Given the description of an element on the screen output the (x, y) to click on. 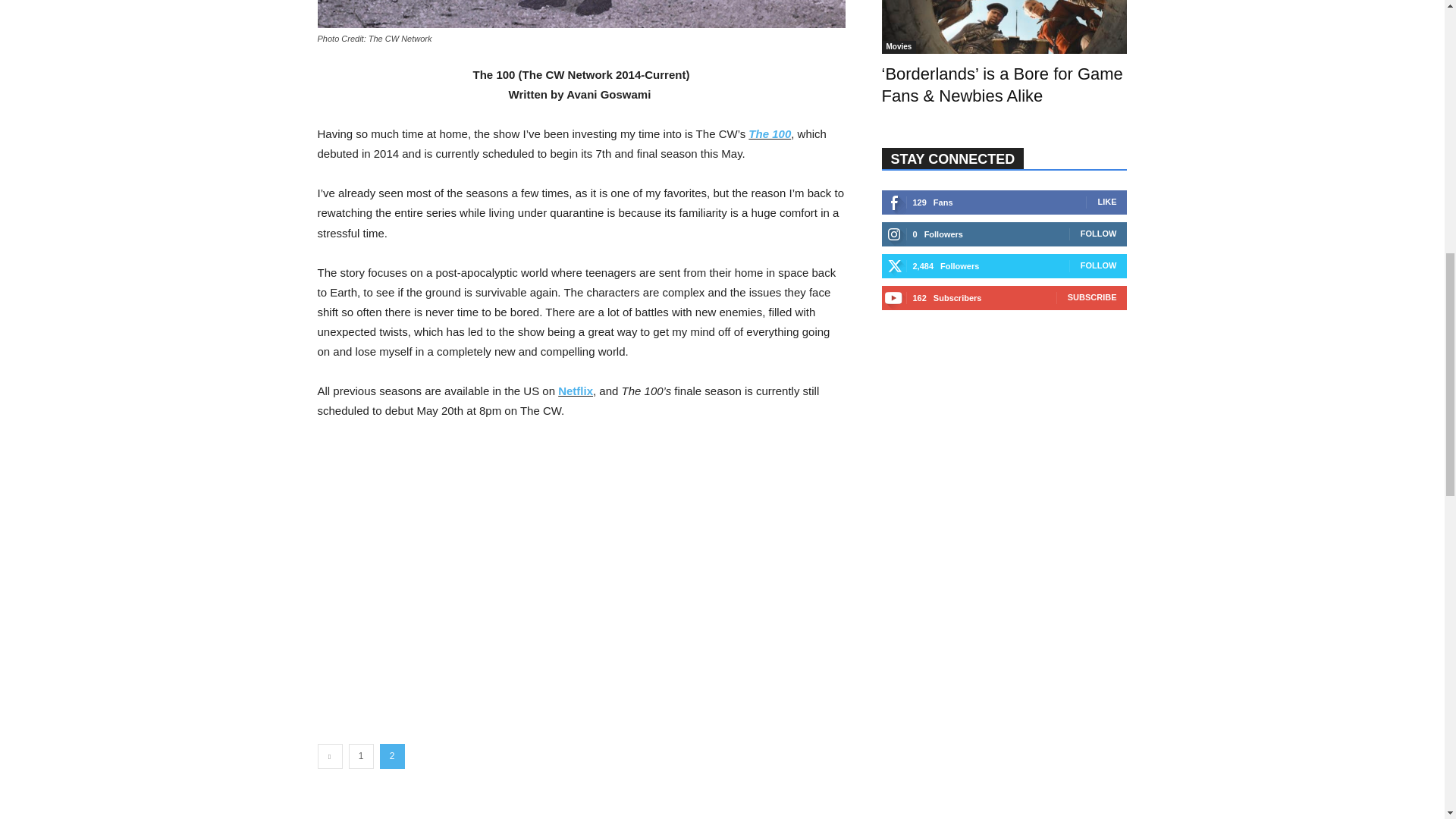
The 100 (769, 133)
Netflix (574, 390)
